Given the description of an element on the screen output the (x, y) to click on. 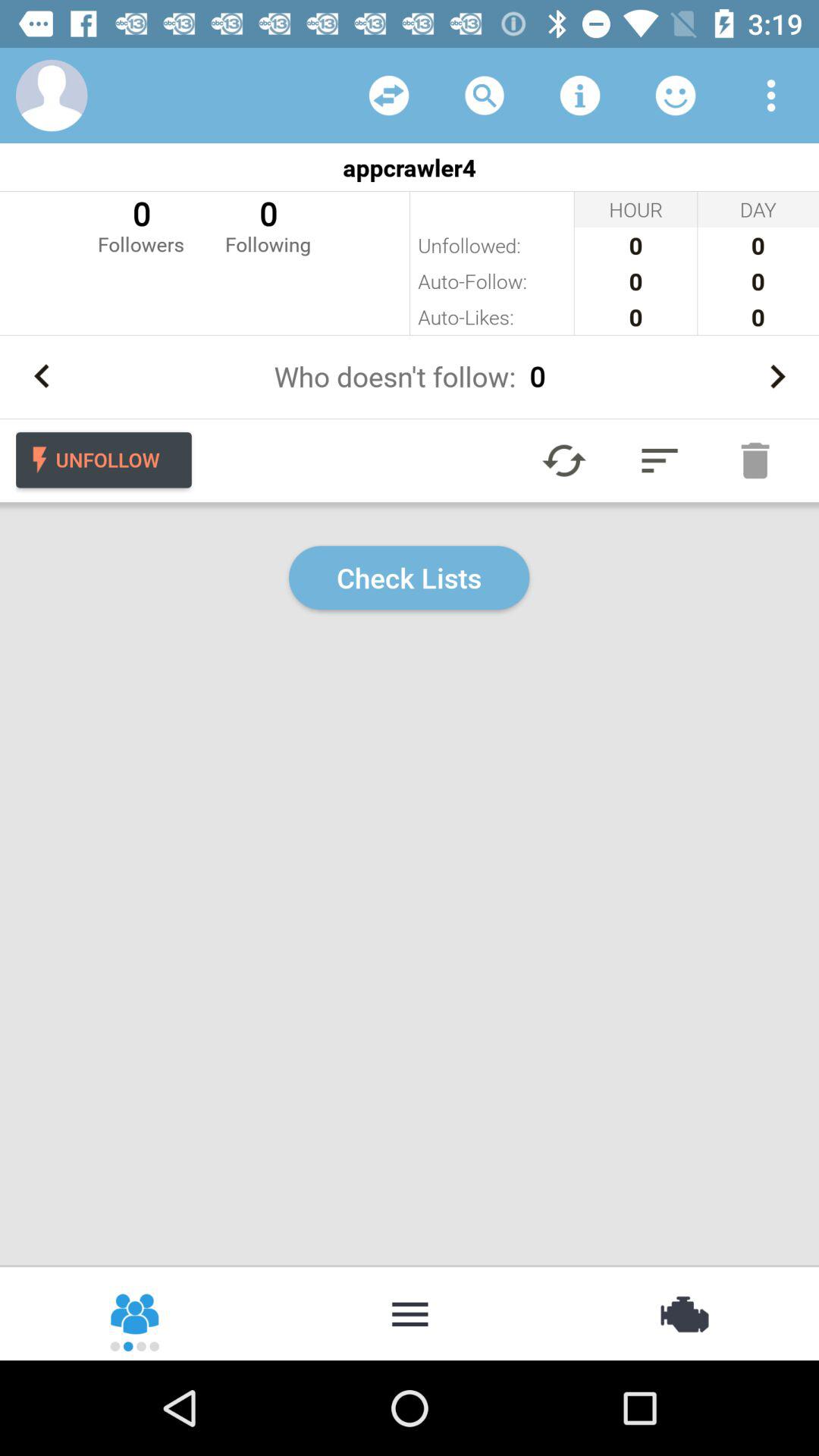
flip to 0
following (268, 224)
